Given the description of an element on the screen output the (x, y) to click on. 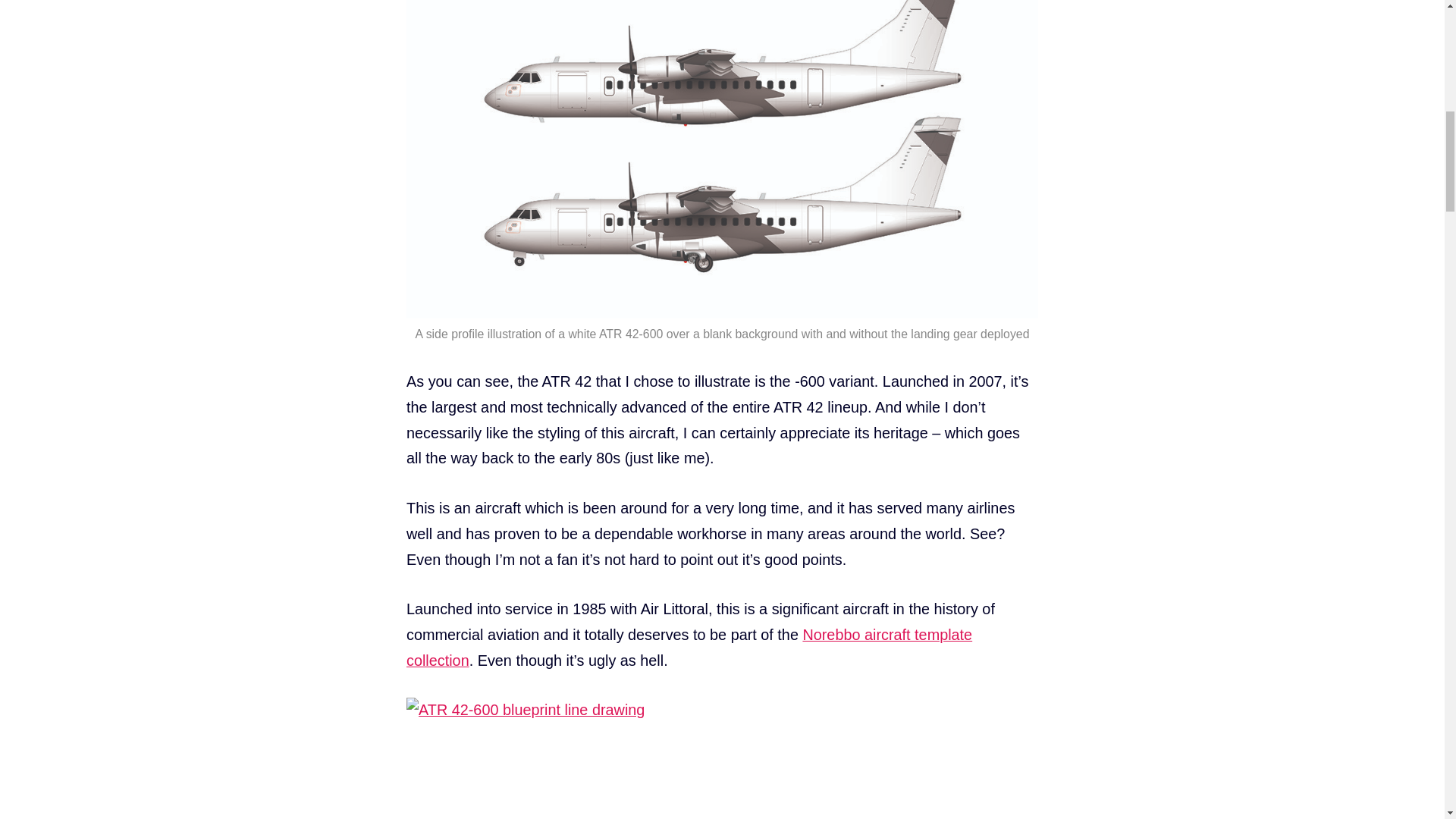
Norebbo aircraft template collection (689, 647)
